Given the description of an element on the screen output the (x, y) to click on. 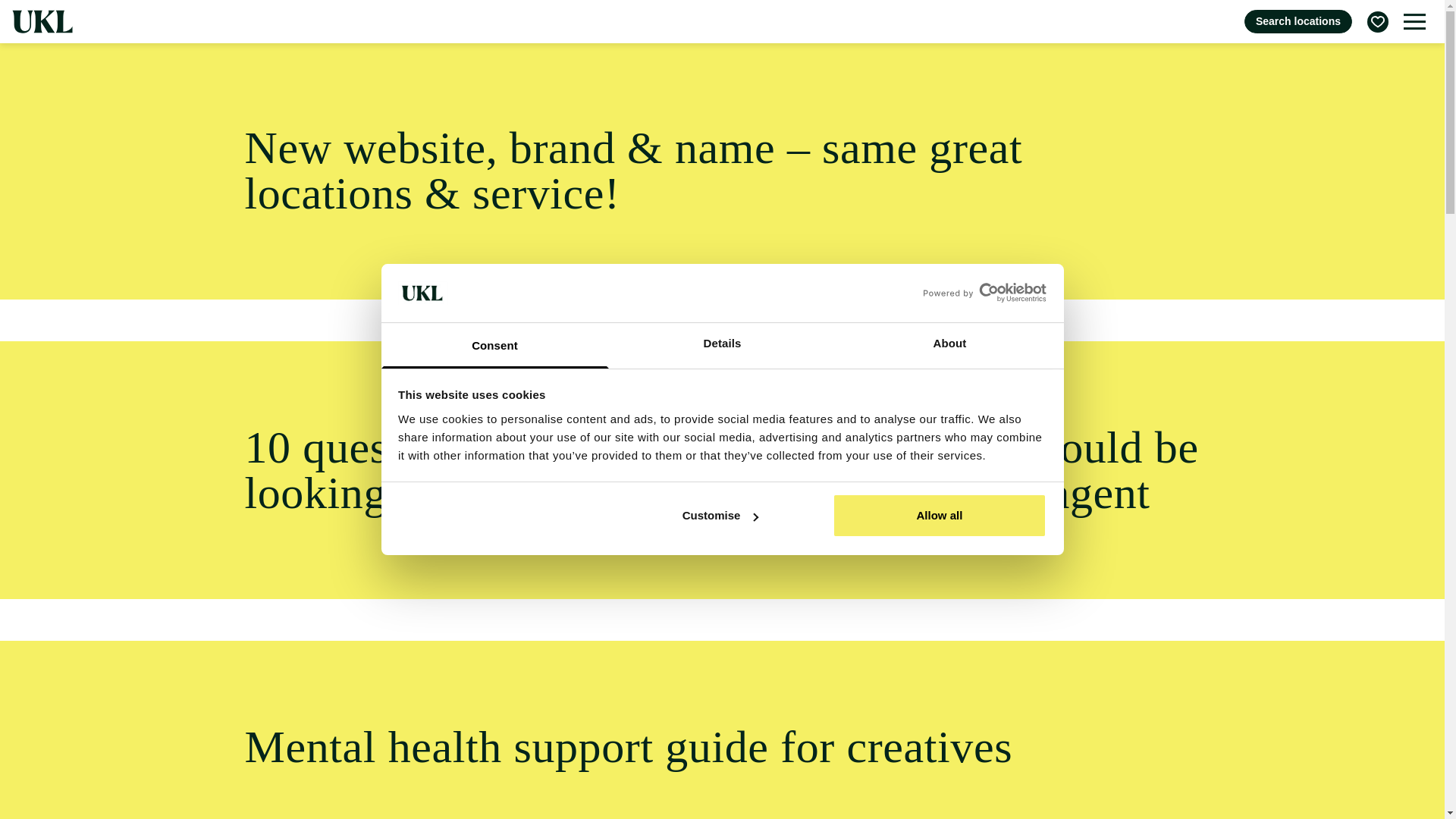
Consent (494, 345)
Details (721, 345)
About (948, 345)
